Given the description of an element on the screen output the (x, y) to click on. 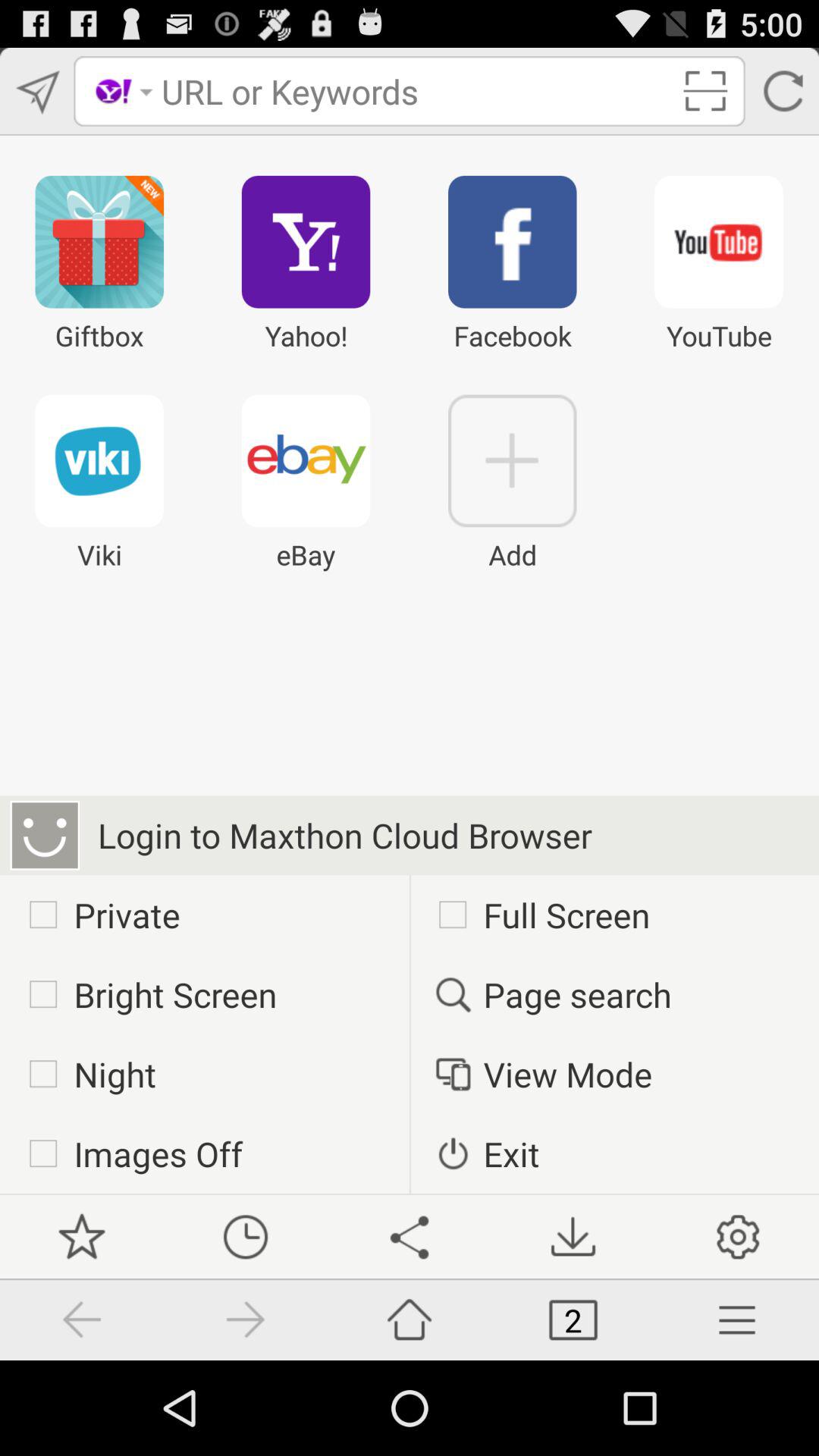
search the internet (415, 91)
